Given the description of an element on the screen output the (x, y) to click on. 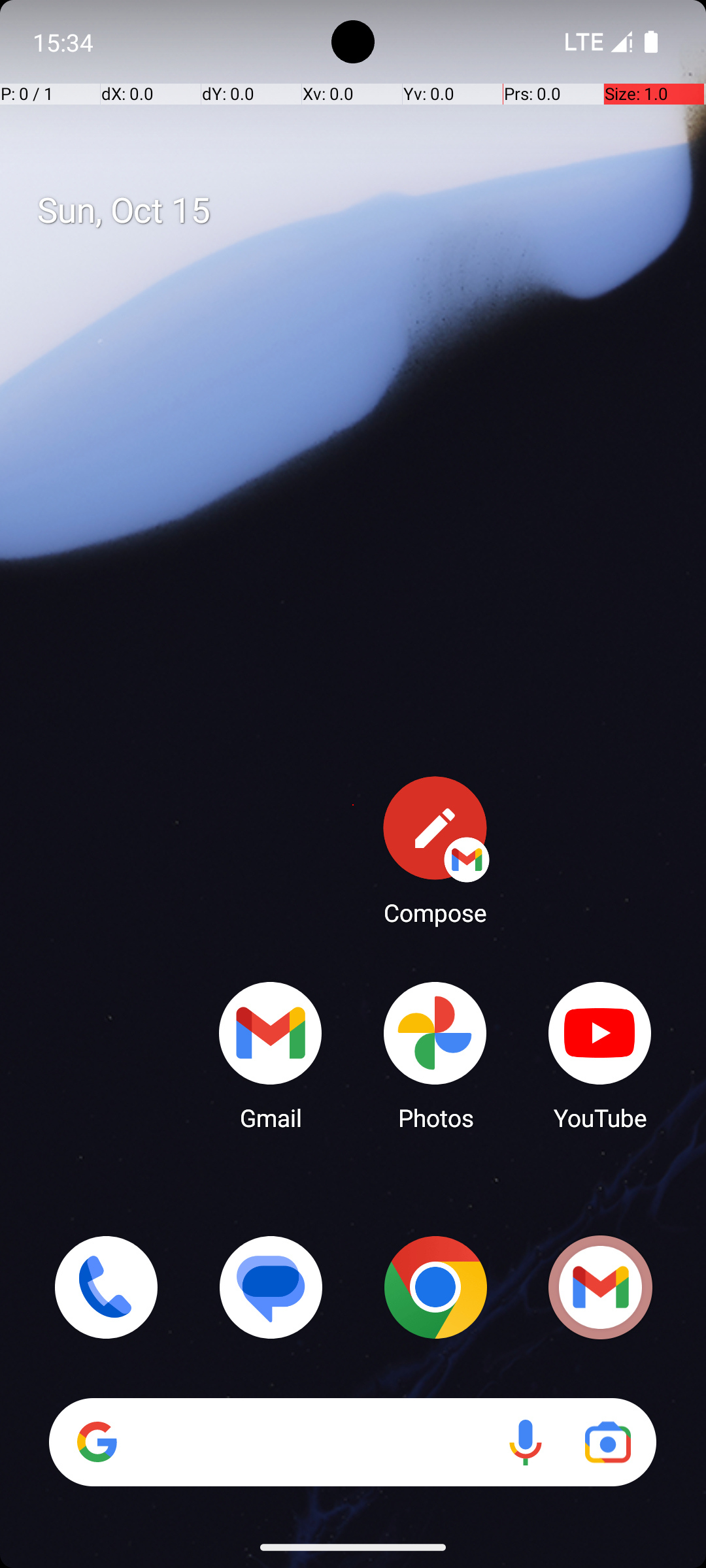
Compose Element type: android.widget.TextView (435, 849)
